Given the description of an element on the screen output the (x, y) to click on. 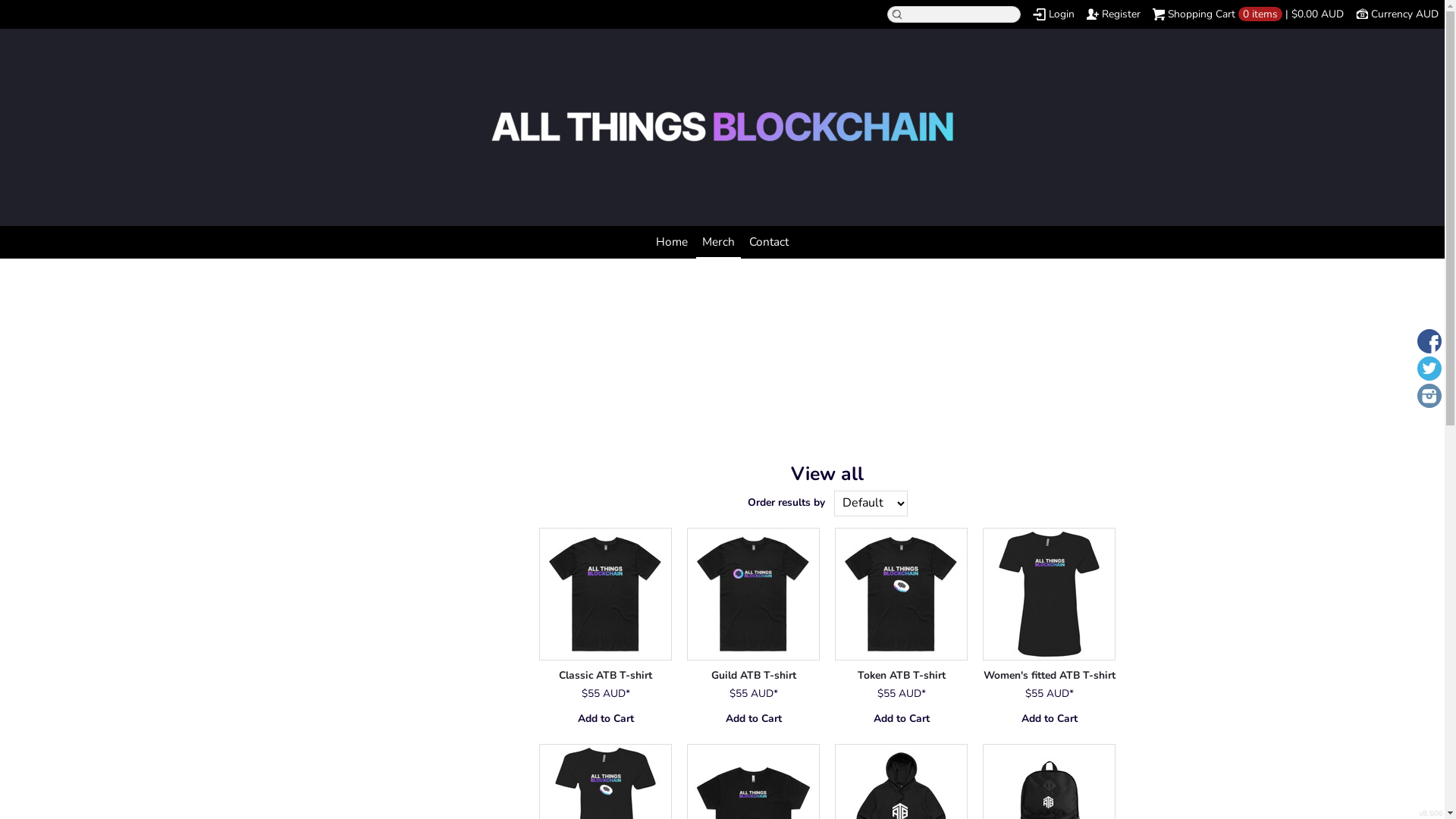
Contact Element type: text (768, 241)
Home Element type: text (671, 241)
Classic ATB T-shirt Element type: text (605, 675)
Women's fitted ATB T-shirt Element type: text (1049, 675)
Register Element type: text (1113, 14)
search Element type: text (15, 9)
Merch Element type: text (718, 241)
Shopping Cart 0 items | $0.00 AUD Element type: text (1247, 14)
Guild ATB T-shirt Element type: text (753, 675)
&nbsp; Element type: text (753, 593)
Add to Cart Element type: text (753, 718)
Currency AUD Element type: text (1396, 14)
&nbsp; Element type: text (1048, 593)
Add to Cart Element type: text (1048, 718)
Add to Cart Element type: text (605, 718)
Add to Cart Element type: text (900, 718)
Token ATB T-shirt Element type: text (901, 675)
Login Element type: text (1053, 14)
&nbsp; Element type: text (900, 593)
&nbsp; Element type: text (605, 593)
